Given the description of an element on the screen output the (x, y) to click on. 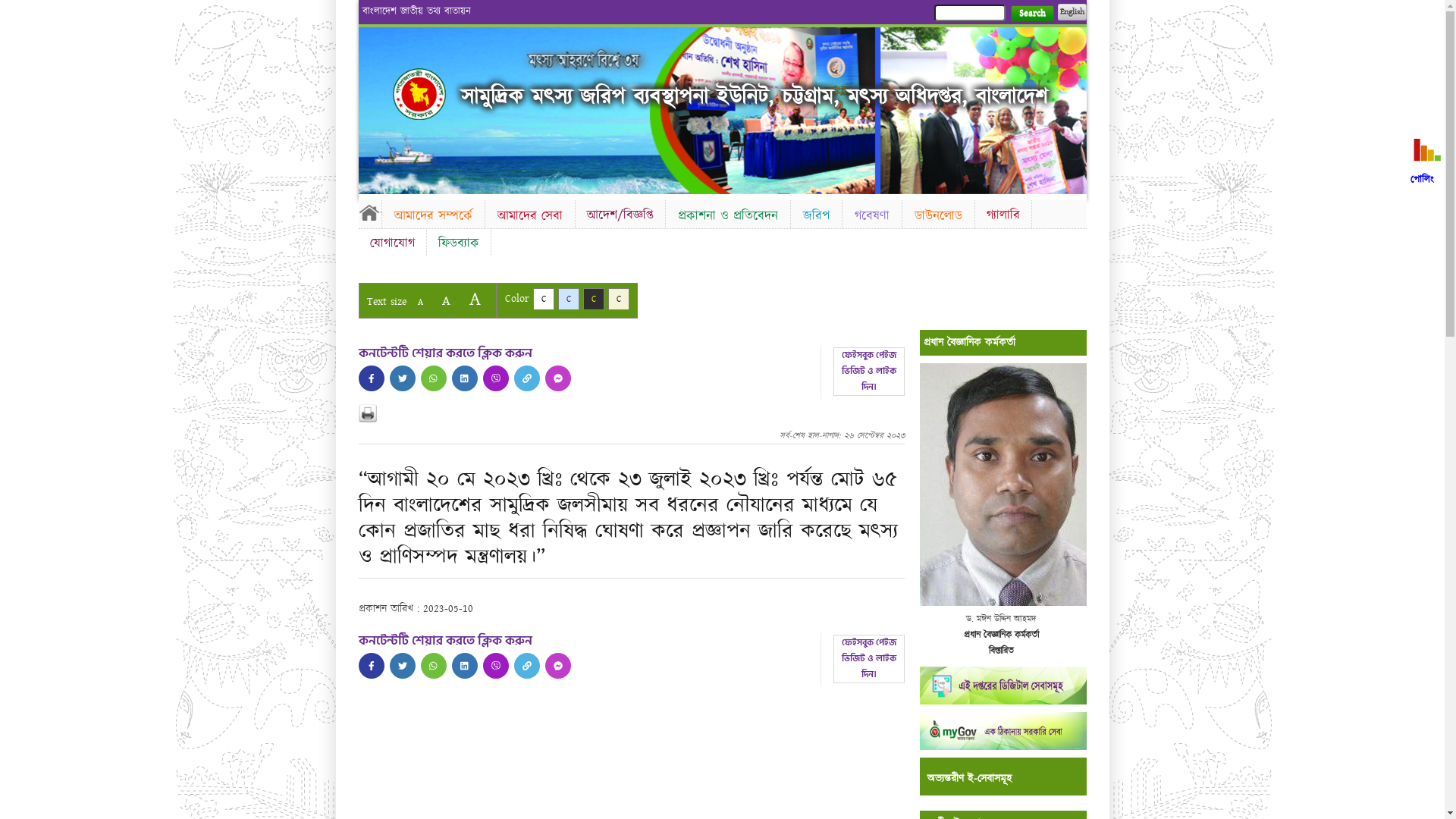
Search Element type: text (1031, 13)
A Element type: text (419, 301)
Home Element type: hover (418, 93)
English Element type: text (1071, 11)
C Element type: text (618, 299)
Home Element type: hover (368, 211)
A Element type: text (474, 298)
C Element type: text (592, 299)
A Element type: text (445, 300)
C Element type: text (568, 299)
C Element type: text (542, 299)
